Given the description of an element on the screen output the (x, y) to click on. 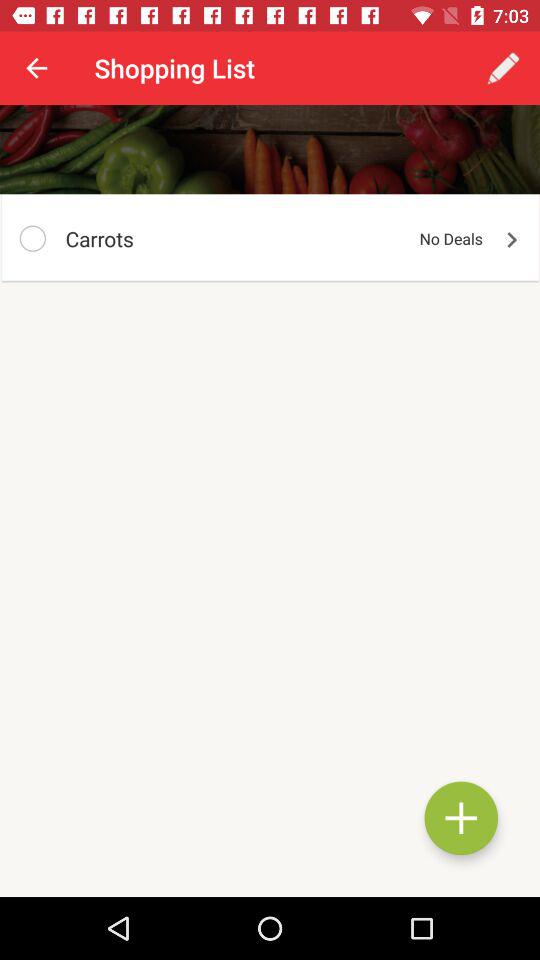
select the app next to shopping list (503, 67)
